Given the description of an element on the screen output the (x, y) to click on. 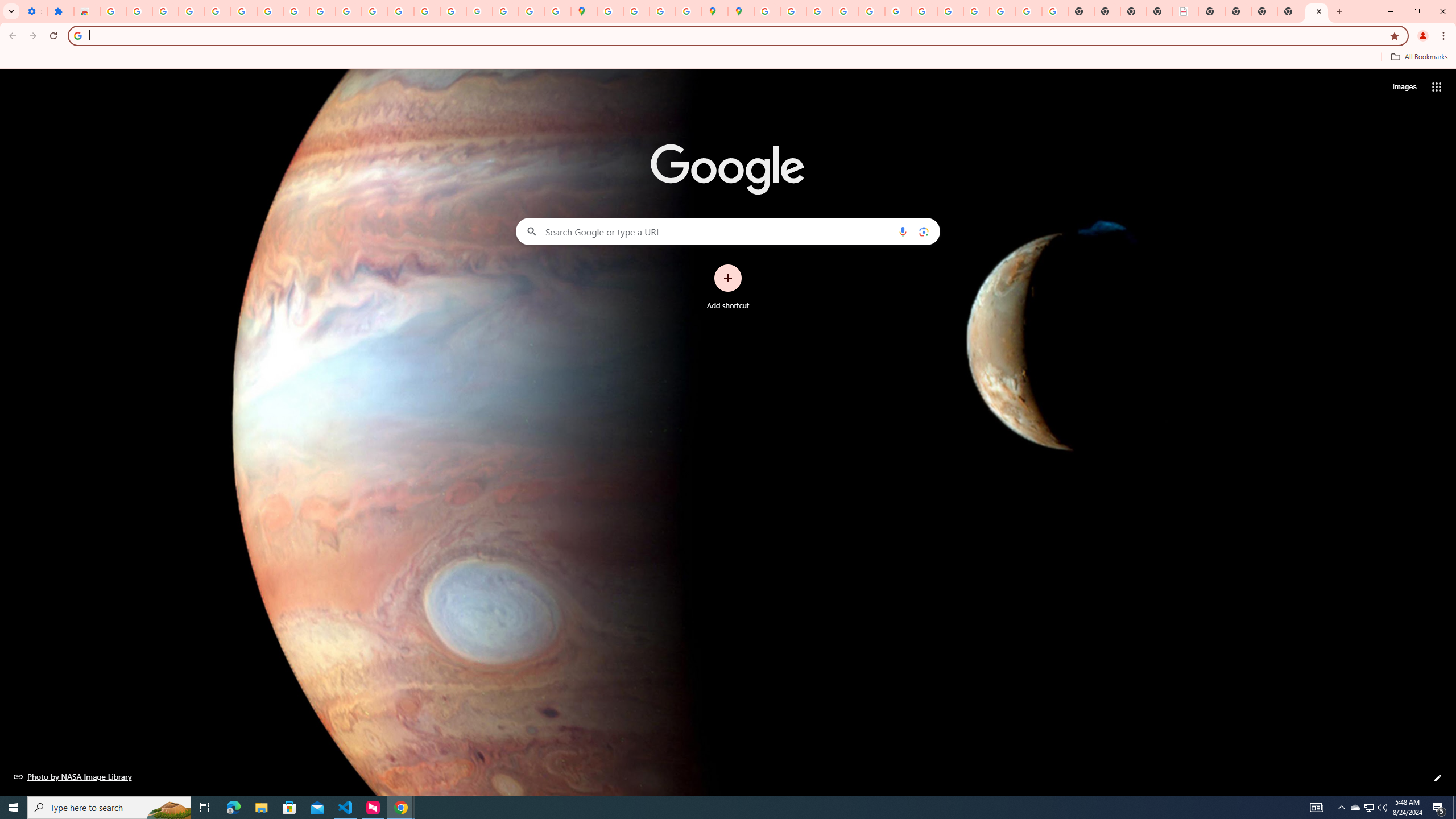
Delete photos & videos - Computer - Google Photos Help (165, 11)
New Tab (1290, 11)
New Tab (1316, 11)
